Given the description of an element on the screen output the (x, y) to click on. 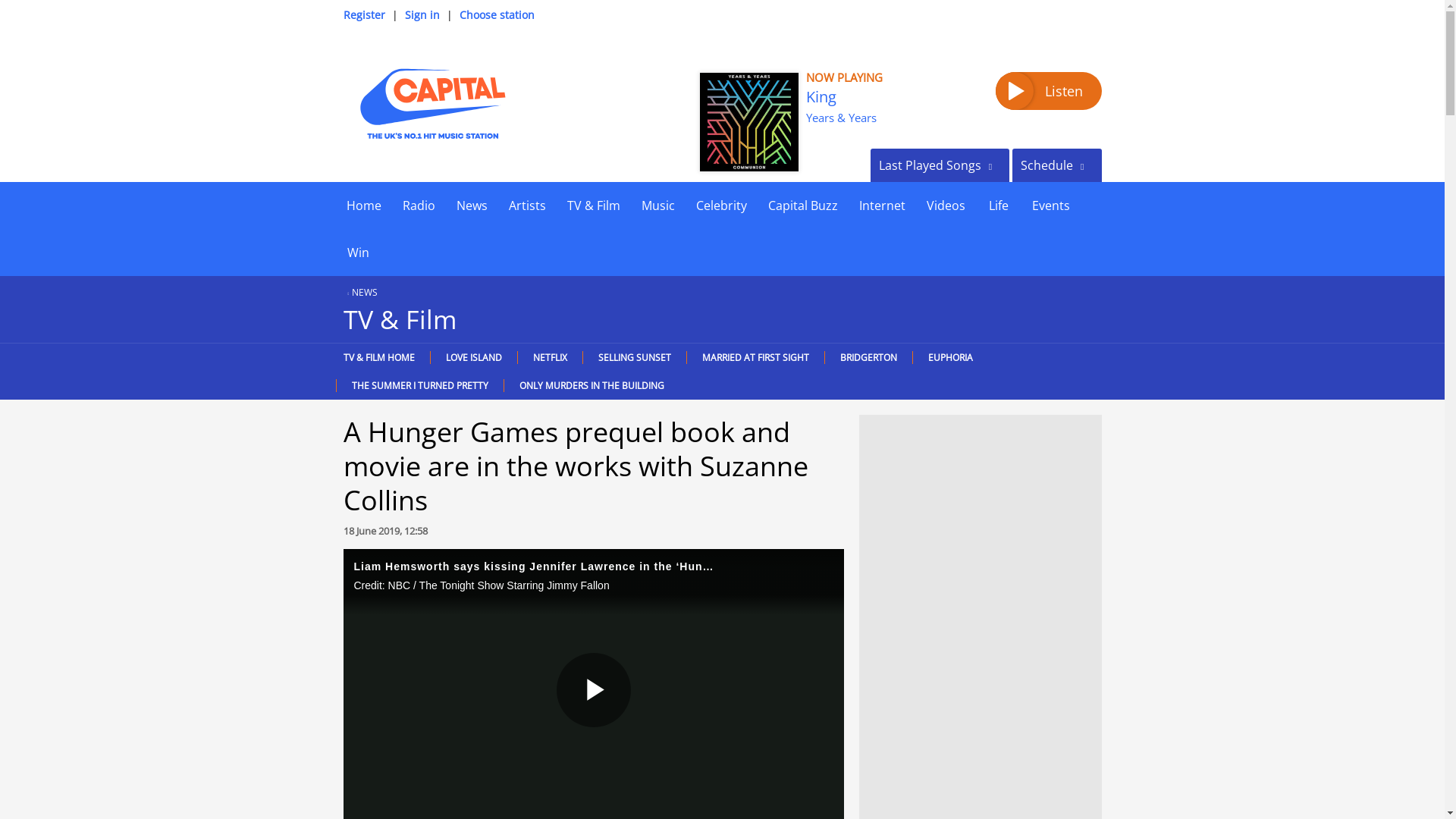
Videos (945, 205)
LOVE ISLAND (472, 357)
Life (997, 205)
News (471, 205)
Play Video (593, 689)
Capital (431, 103)
Internet (881, 205)
Schedule (1055, 164)
Home (362, 205)
Choose station (497, 14)
BRIDGERTON (867, 357)
NETFLIX (549, 357)
Artists (526, 205)
NEWS (359, 291)
Radio (418, 205)
